Given the description of an element on the screen output the (x, y) to click on. 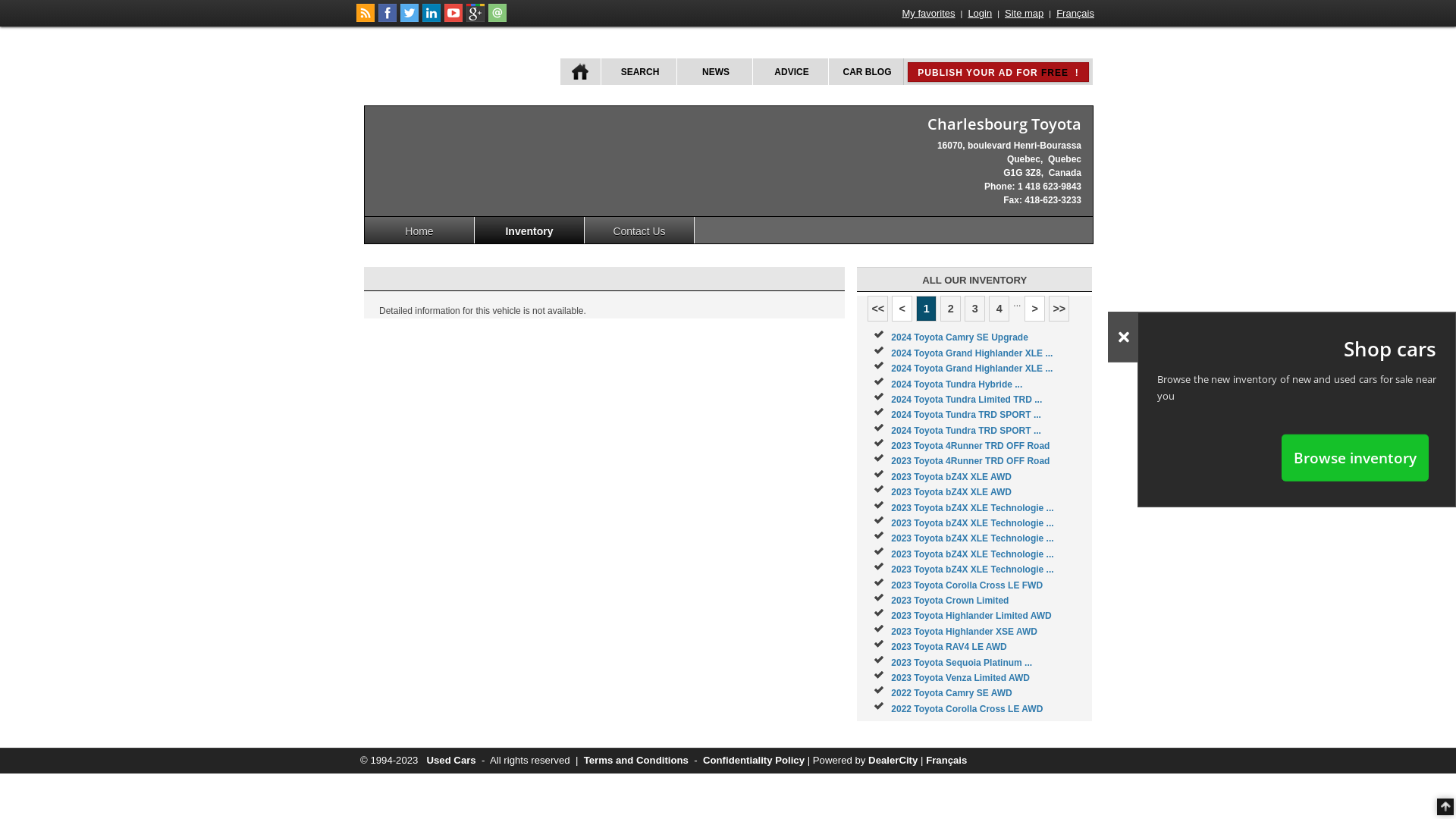
Login Element type: text (979, 13)
SEARCH Element type: text (638, 71)
2024 Toyota Tundra TRD SPORT ... Element type: text (966, 414)
2023 Toyota Crown Limited Element type: text (949, 600)
Terms and Conditions Element type: text (635, 759)
PUBLISH YOUR AD FOR FREE  ! Element type: text (997, 71)
2023 Toyota Highlander Limited AWD Element type: text (971, 615)
Browse inventory Element type: text (1354, 457)
2023 Toyota bZ4X XLE Technologie ... Element type: text (972, 538)
Follow autoExpert.ca on Youtube Element type: hover (453, 18)
2023 Toyota Sequoia Platinum ... Element type: text (961, 662)
3 Element type: text (974, 308)
2022 Toyota Camry SE AWD Element type: text (951, 692)
2023 Toyota bZ4X XLE Technologie ... Element type: text (972, 569)
> Element type: text (1034, 308)
CAR BLOG Element type: text (865, 71)
Follow car news on autoExpert.ca Element type: hover (365, 18)
Home Element type: text (419, 229)
4 Element type: text (998, 308)
Inventory Element type: text (529, 229)
Site map Element type: text (1023, 13)
2024 Toyota Grand Highlander XLE ... Element type: text (971, 353)
Contact Us Element type: text (639, 229)
2023 Toyota bZ4X XLE Technologie ... Element type: text (972, 507)
2024 Toyota Tundra Hybride ... Element type: text (956, 384)
2024 Toyota Camry SE Upgrade Element type: text (959, 337)
ADVICE Element type: text (790, 71)
< Element type: text (901, 308)
2023 Toyota 4Runner TRD OFF Road Element type: text (970, 460)
2023 Toyota bZ4X XLE AWD Element type: text (951, 491)
Follow autoExpert.ca on Twitter Element type: hover (409, 18)
HOME Element type: text (580, 71)
2023 Toyota Corolla Cross LE FWD Element type: text (966, 585)
2024 Toyota Grand Highlander XLE ... Element type: text (971, 368)
Confidentiality Policy Element type: text (753, 759)
2022 Toyota Corolla Cross LE AWD Element type: text (966, 708)
Follow Publications Le Guide Inc. on LinkedIn Element type: hover (431, 18)
2023 Toyota 4Runner TRD OFF Road Element type: text (970, 445)
2023 Toyota Venza Limited AWD Element type: text (960, 677)
2023 Toyota bZ4X XLE Technologie ... Element type: text (972, 522)
2023 Toyota Highlander XSE AWD Element type: text (964, 631)
2023 Toyota RAV4 LE AWD Element type: text (948, 646)
Used Cars Element type: text (450, 759)
DealerCity Element type: text (892, 759)
2 Element type: text (950, 308)
Contact autoExpert.ca Element type: hover (497, 18)
My favorites Element type: text (928, 13)
1 Element type: text (926, 308)
<< Element type: text (877, 308)
Follow autoExpert.ca on Google Plus Element type: hover (475, 18)
2024 Toyota Tundra TRD SPORT ... Element type: text (966, 430)
2024 Toyota Tundra Limited TRD ... Element type: text (966, 399)
autoExpert.ca Element type: text (451, 66)
2023 Toyota bZ4X XLE AWD Element type: text (951, 476)
NEWS Element type: text (714, 71)
>> Element type: text (1058, 308)
2023 Toyota bZ4X XLE Technologie ... Element type: text (972, 554)
Follow autoExpert.ca on Facebook Element type: hover (387, 18)
